Given the description of an element on the screen output the (x, y) to click on. 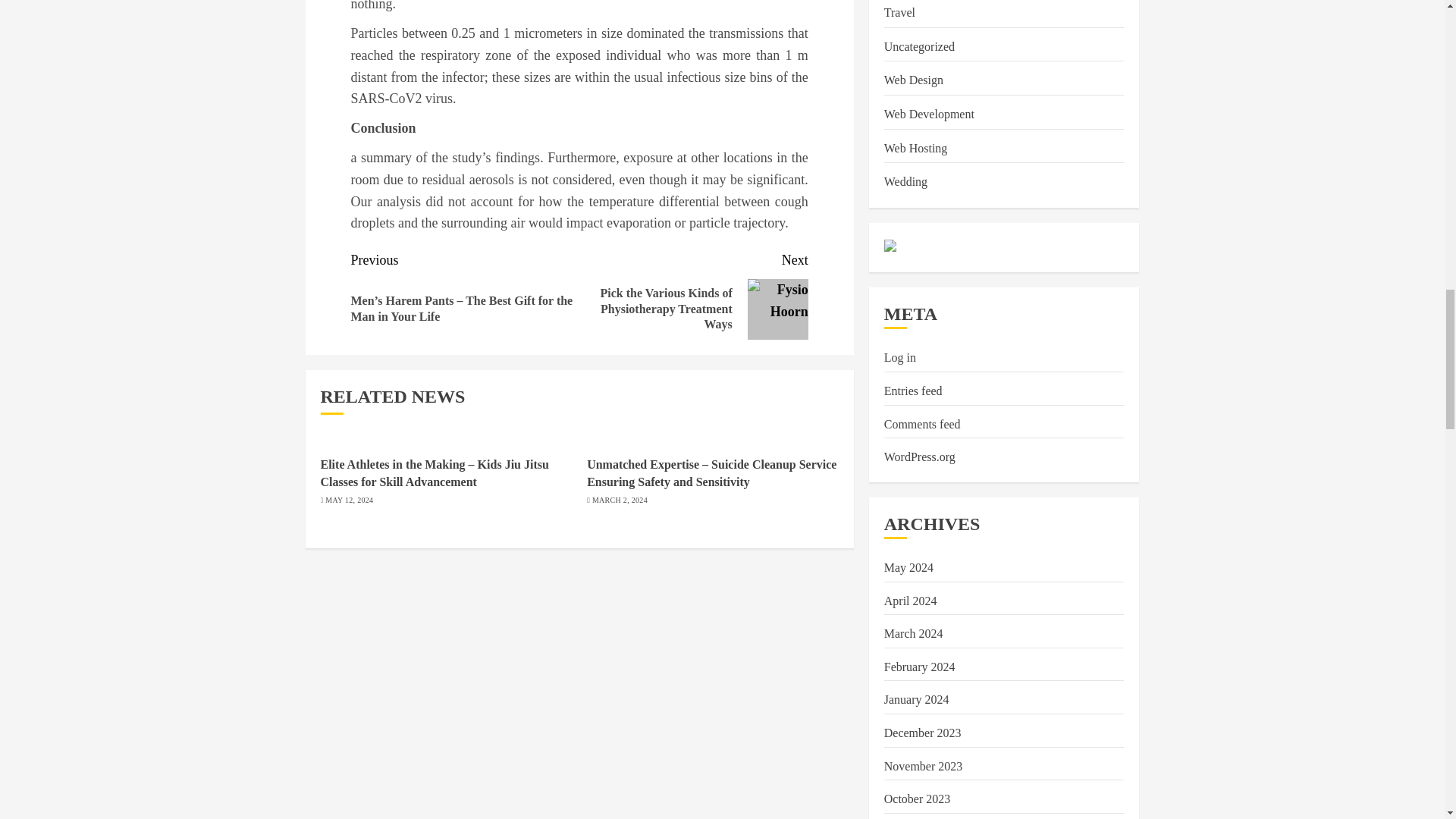
MARCH 2, 2024 (619, 500)
MAY 12, 2024 (348, 500)
